Given the description of an element on the screen output the (x, y) to click on. 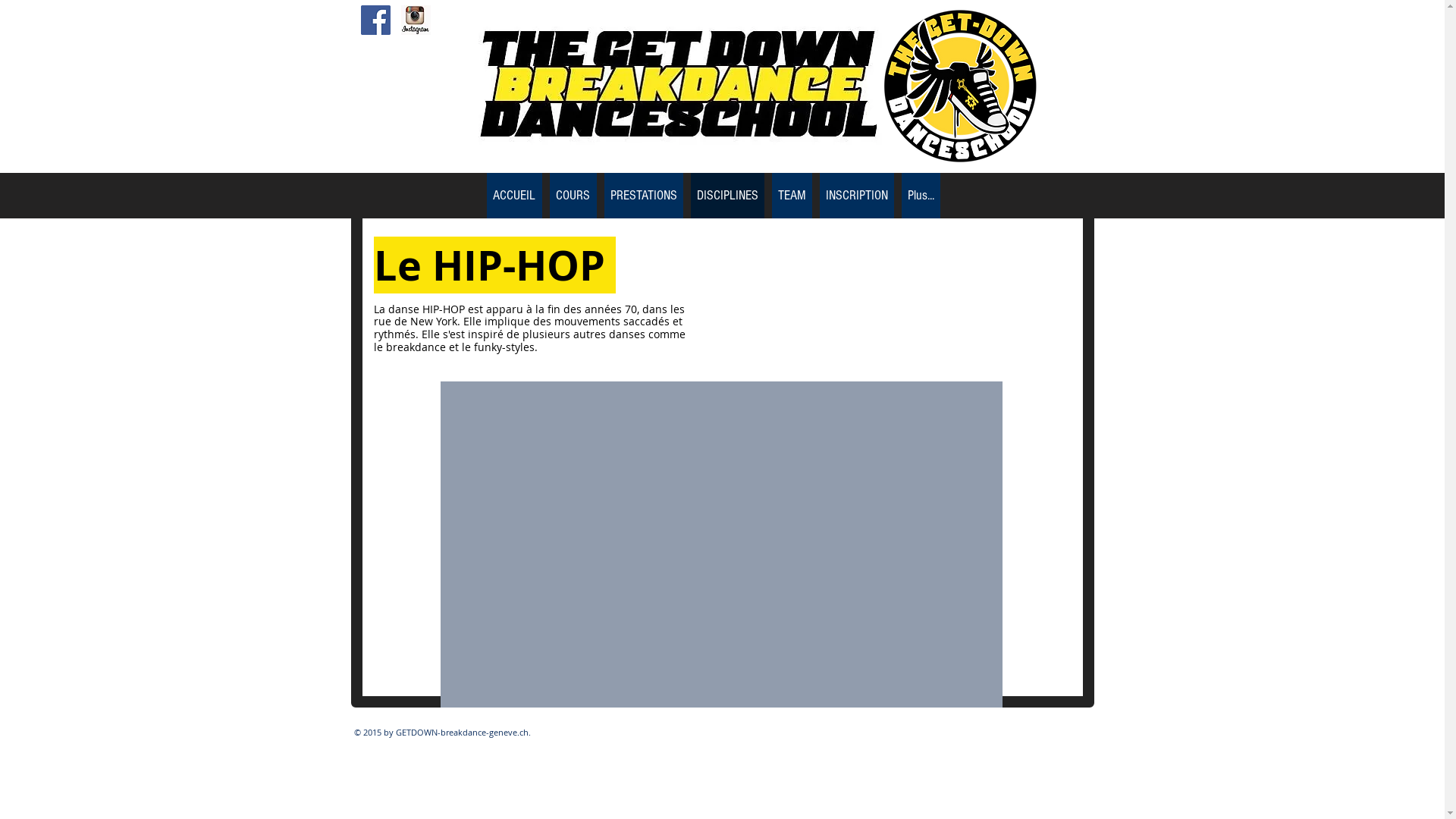
External YouTube Element type: hover (721, 544)
COURS Element type: text (572, 195)
TEAM Element type: text (791, 195)
PRESTATIONS Element type: text (642, 195)
ACCUEIL Element type: text (514, 195)
INSCRIPTION Element type: text (856, 195)
DISCIPLINES Element type: text (726, 195)
